Given the description of an element on the screen output the (x, y) to click on. 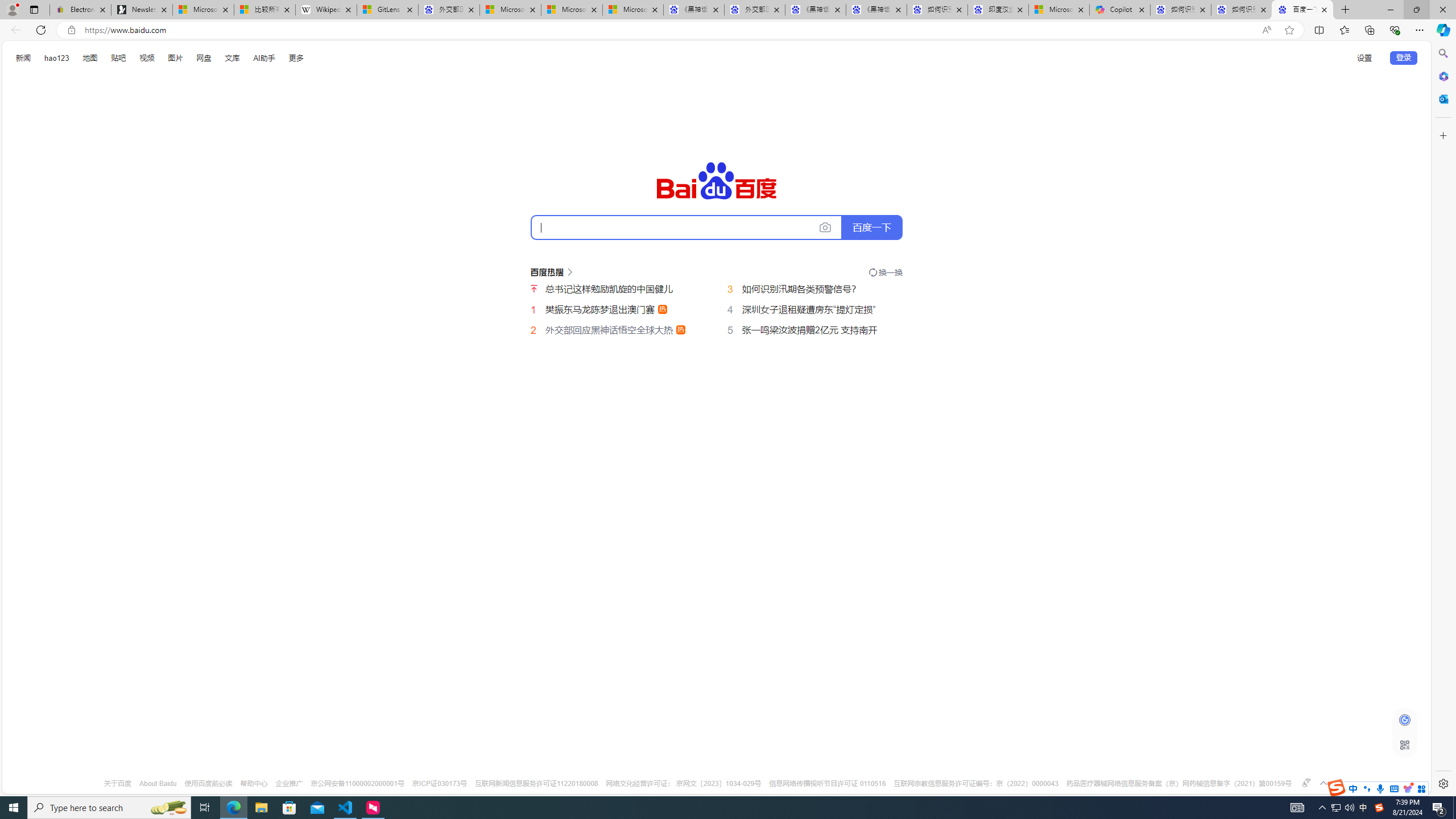
AutomationID: kw (686, 226)
Newsletter Sign Up (141, 9)
Copilot (1119, 9)
